Given the description of an element on the screen output the (x, y) to click on. 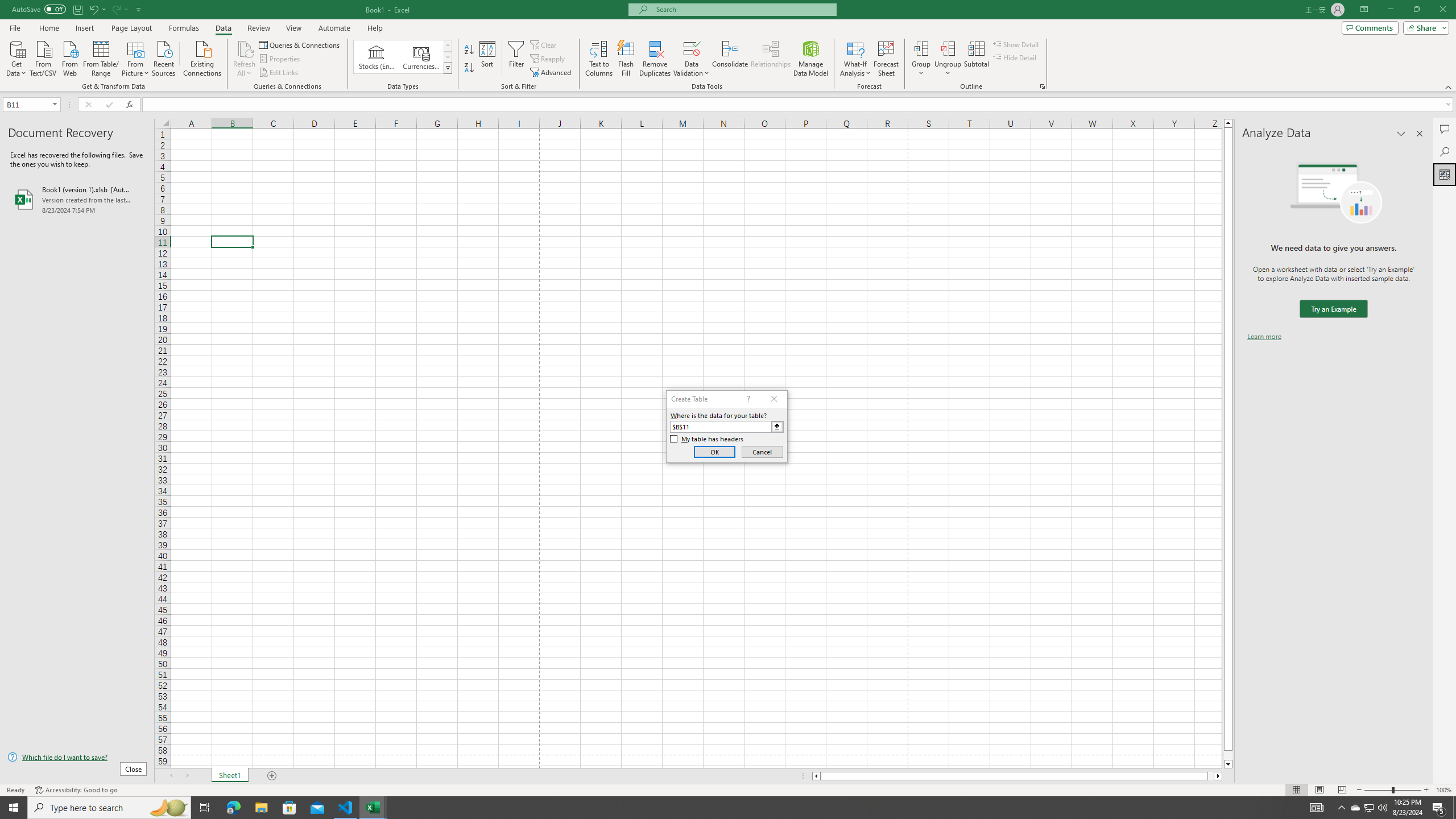
Sort Z to A (469, 67)
Relationships (770, 58)
Hide Detail (1014, 56)
